Given the description of an element on the screen output the (x, y) to click on. 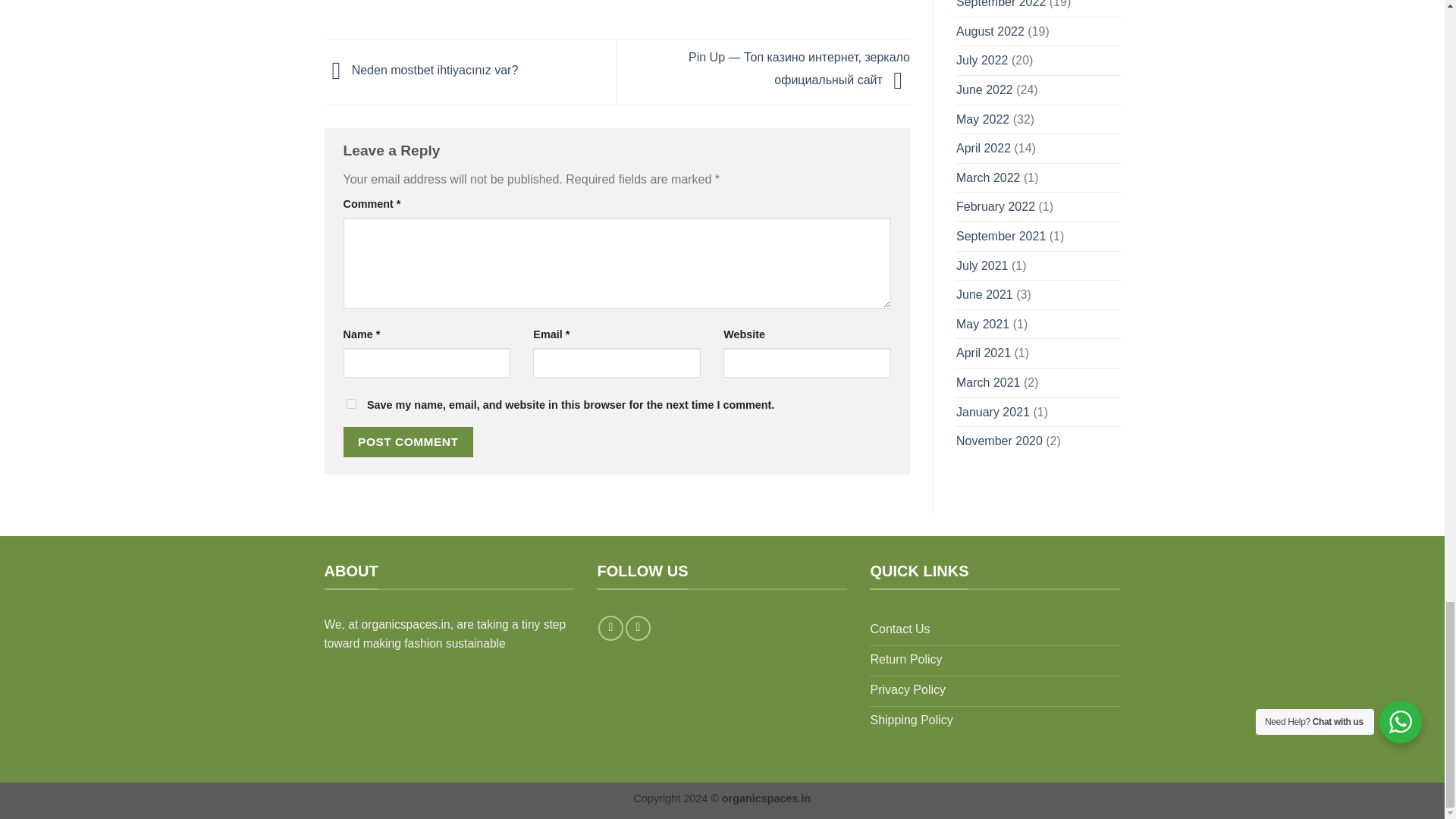
Post Comment (407, 441)
Post Comment (407, 441)
yes (350, 403)
Follow on Facebook (610, 627)
